Given the description of an element on the screen output the (x, y) to click on. 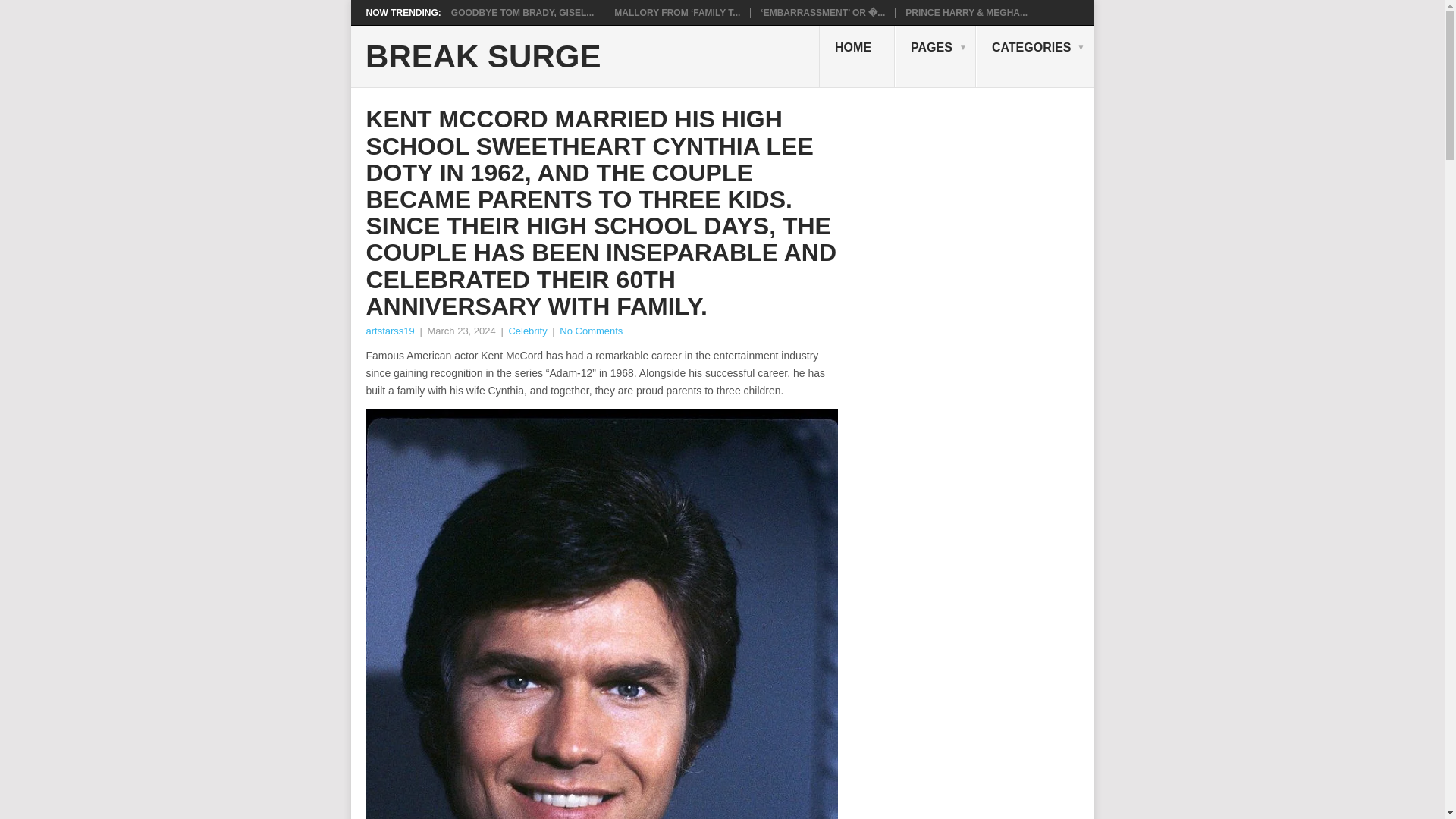
No Comments (591, 330)
artstarss19 (389, 330)
Posts by artstarss19 (389, 330)
Celebrity (527, 330)
PAGES (935, 56)
CATEGORIES (1034, 56)
BREAK SURGE (482, 56)
HOME (856, 56)
GOODBYE TOM BRADY, GISEL... (522, 12)
